Given the description of an element on the screen output the (x, y) to click on. 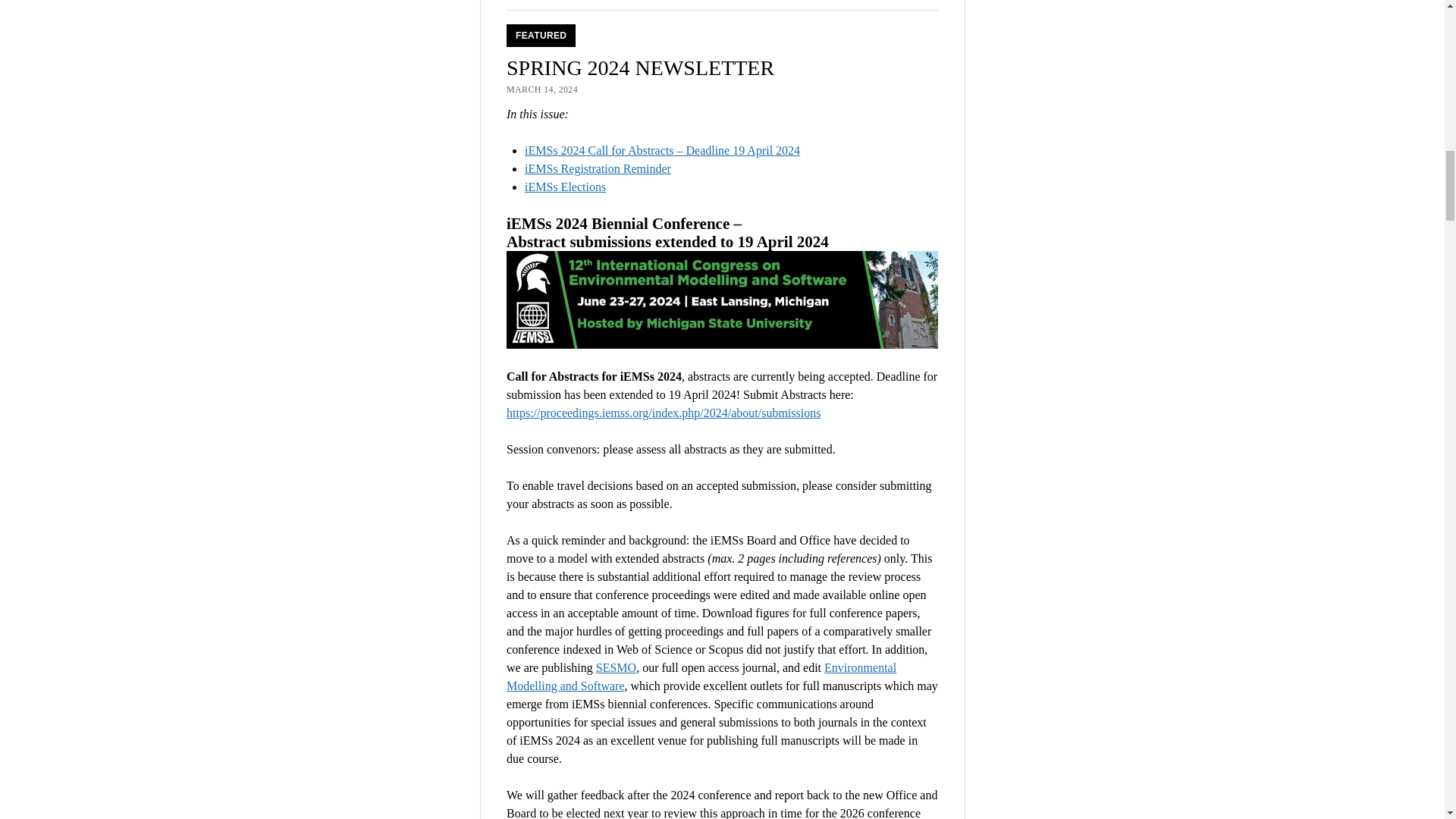
iEMSs Elections (564, 186)
SESMO (615, 667)
SPRING 2024 NEWSLETTER (640, 67)
iEMSs Registration Reminder (597, 168)
Environmental Modelling and Software (701, 676)
